Given the description of an element on the screen output the (x, y) to click on. 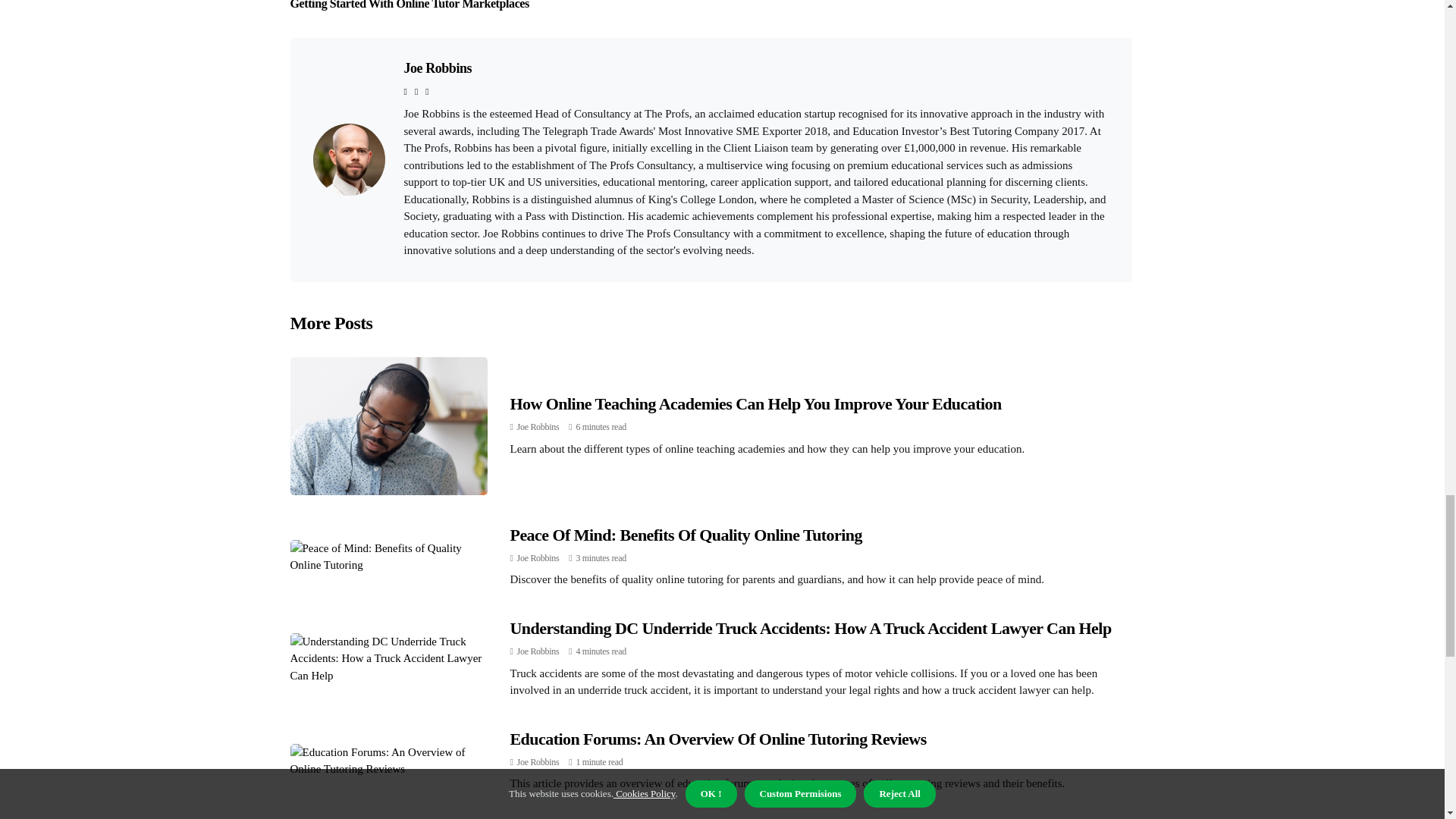
Posts by Joe Robbins (537, 761)
Posts by Joe Robbins (537, 651)
Posts by Joe Robbins (537, 557)
Posts by Joe Robbins (537, 426)
